Given the description of an element on the screen output the (x, y) to click on. 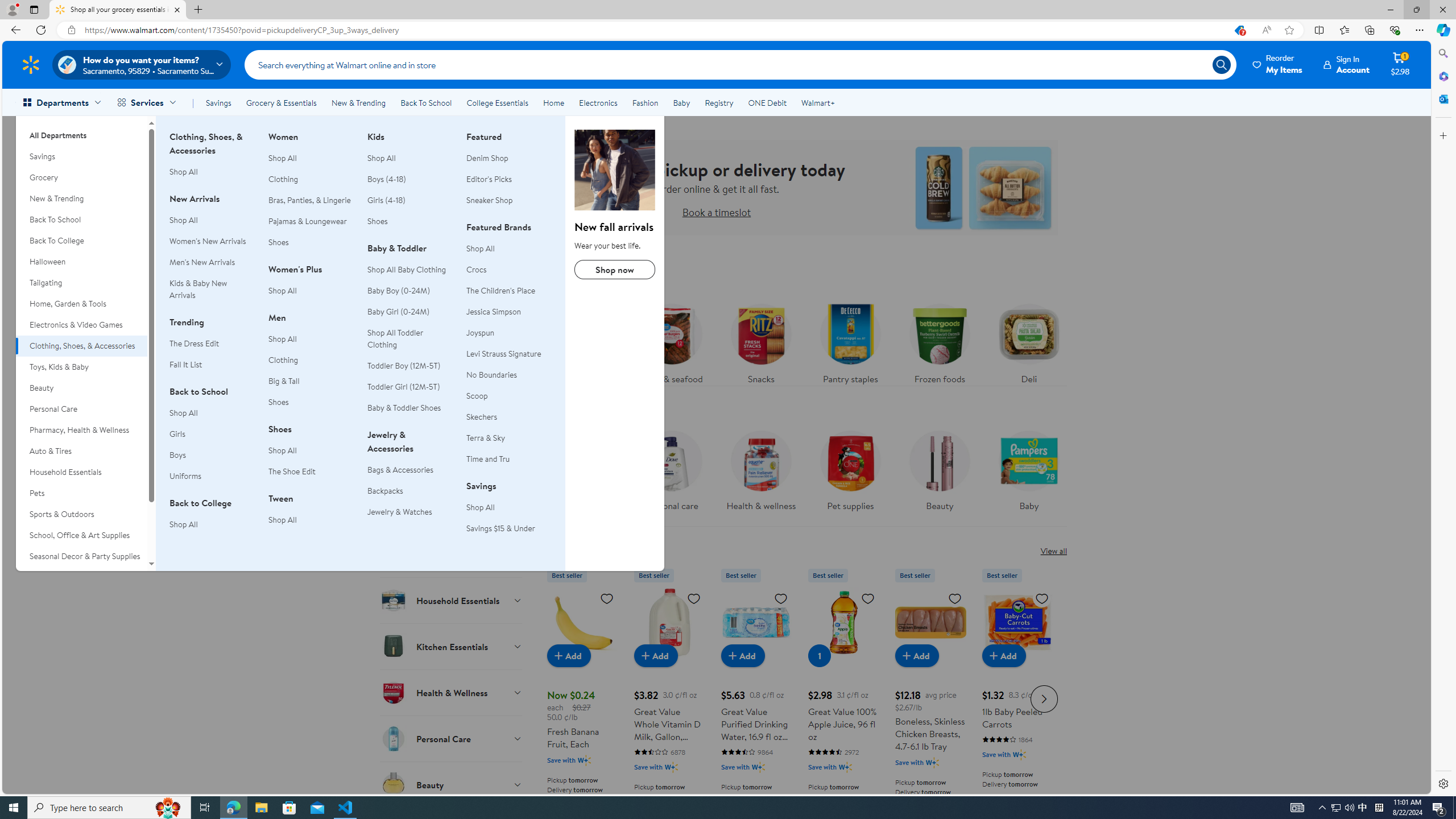
Fashion (644, 102)
Pharmacy, Health & Wellness (81, 429)
Sign In Account (1347, 64)
Beauty (938, 467)
Alcohol (451, 507)
The Children's Place (508, 290)
Savings (81, 156)
Jessica Simpson (493, 311)
Next slide for Product Carousel list (1044, 698)
